Given the description of an element on the screen output the (x, y) to click on. 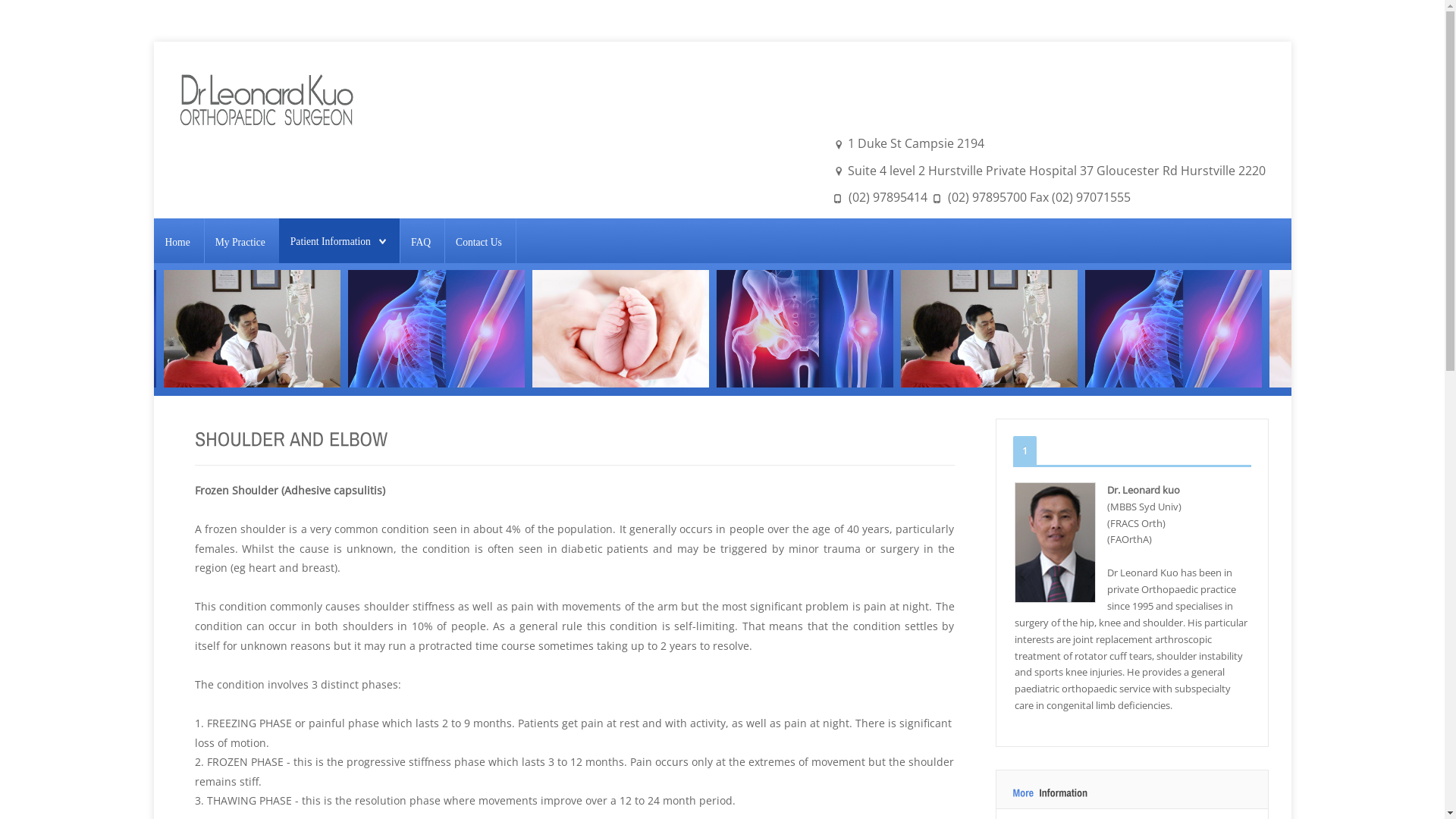
FAQ Element type: text (420, 241)
Home Element type: text (177, 241)
Contact Us Element type: text (478, 241)
Patient Information Element type: text (330, 241)
My Practice Element type: text (240, 241)
Patient Information Element type: text (337, 241)
